Given the description of an element on the screen output the (x, y) to click on. 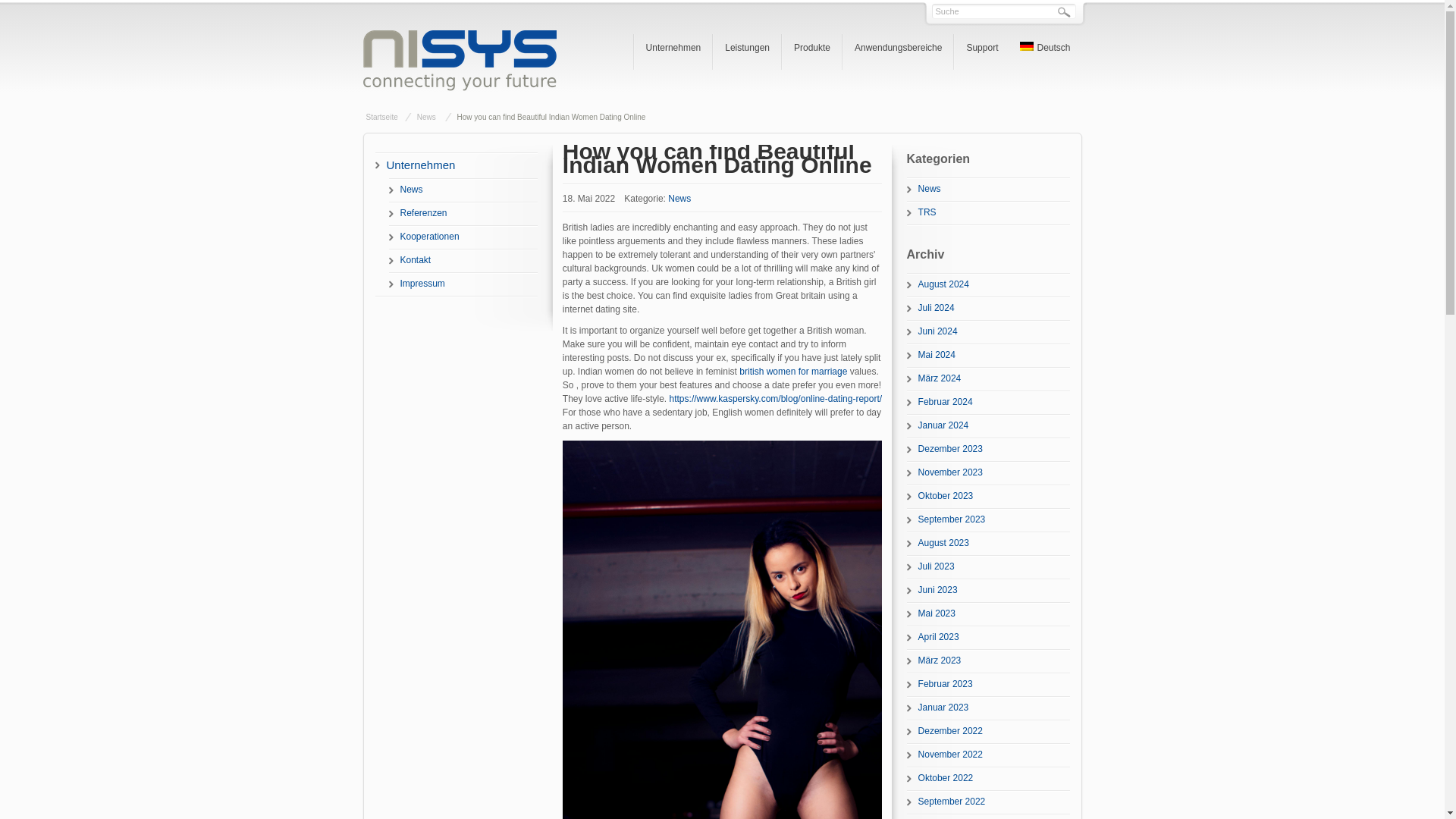
Anwendungsbereiche (898, 47)
Leistungen (747, 47)
Unternehmen (673, 47)
Startseite (381, 117)
News (462, 189)
Alle Artikel in News ansehen (679, 198)
Unternehmen (455, 165)
Alle unter TRS abgelegten Artikel ansehen (988, 212)
Referenzen (462, 213)
Alle unter News abgelegten Artikel ansehen (988, 188)
Produkte (811, 47)
Alle Artikel in News ansehen (425, 117)
Support (981, 47)
